Given the description of an element on the screen output the (x, y) to click on. 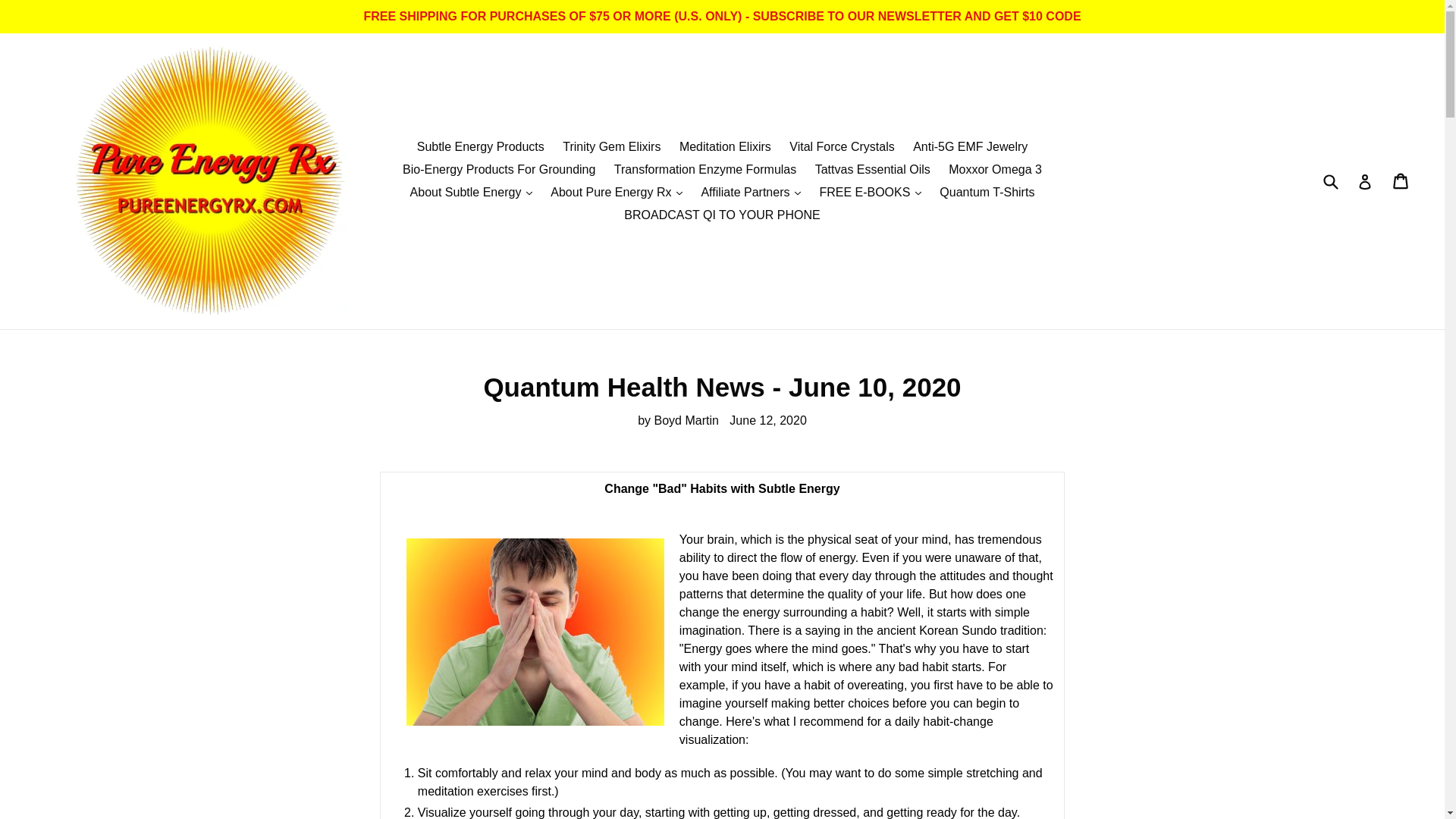
Bad habits be gone... (534, 631)
